Given the description of an element on the screen output the (x, y) to click on. 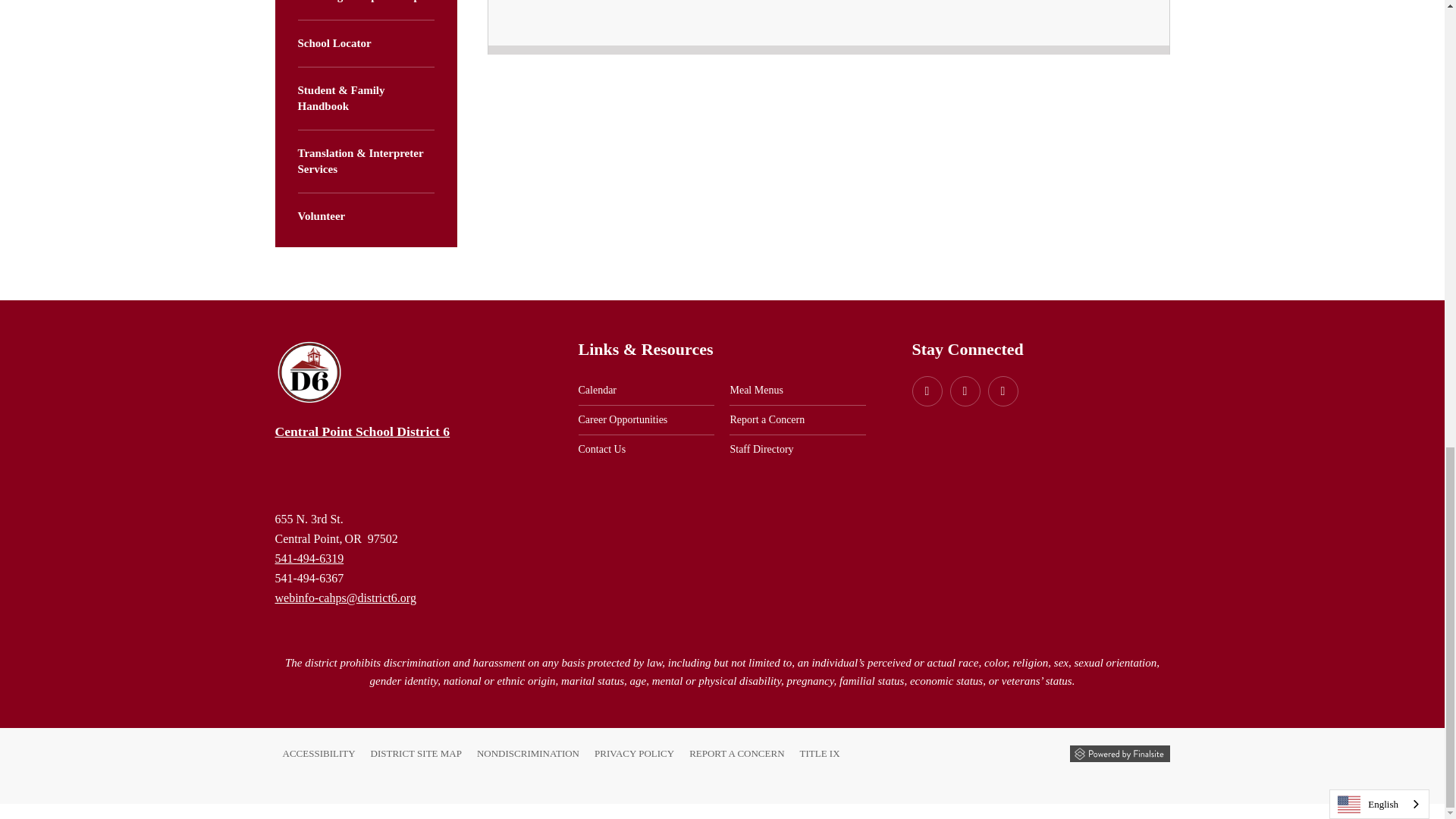
Powered by Finalsite opens in a new window (1118, 753)
Email (344, 597)
